Given the description of an element on the screen output the (x, y) to click on. 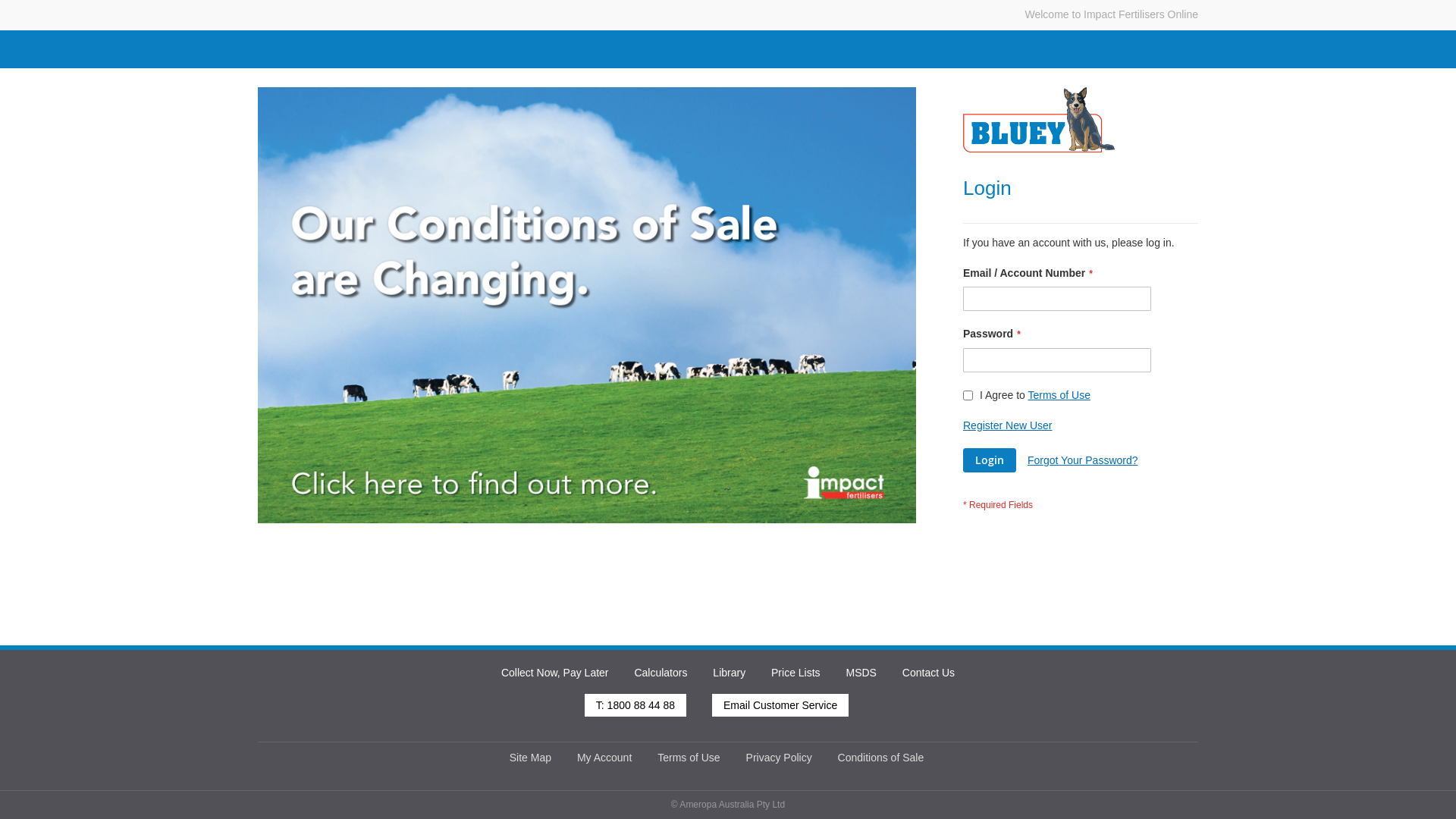
Terms of Use Element type: text (688, 757)
Privacy Policy Element type: text (779, 757)
MSDS Element type: text (861, 672)
My Account Element type: text (604, 757)
Login Element type: text (989, 460)
Collect Now, Pay Later Element type: text (554, 672)
Terms of Use Element type: text (1058, 395)
Accept the privacy policy Element type: hover (967, 395)
Bluey Element type: hover (1038, 119)
Forgot Your Password? Element type: text (1082, 459)
Email / Account Number Element type: hover (1057, 298)
Calculators Element type: text (660, 672)
Conditions of Sale Element type: text (880, 757)
Library Element type: text (728, 672)
Password Element type: hover (1057, 360)
Price Lists Element type: text (795, 672)
Register New User Element type: text (1007, 425)
Site Map Element type: text (530, 757)
Email Customer Service Element type: text (780, 704)
Contact Us Element type: text (928, 672)
